Given the description of an element on the screen output the (x, y) to click on. 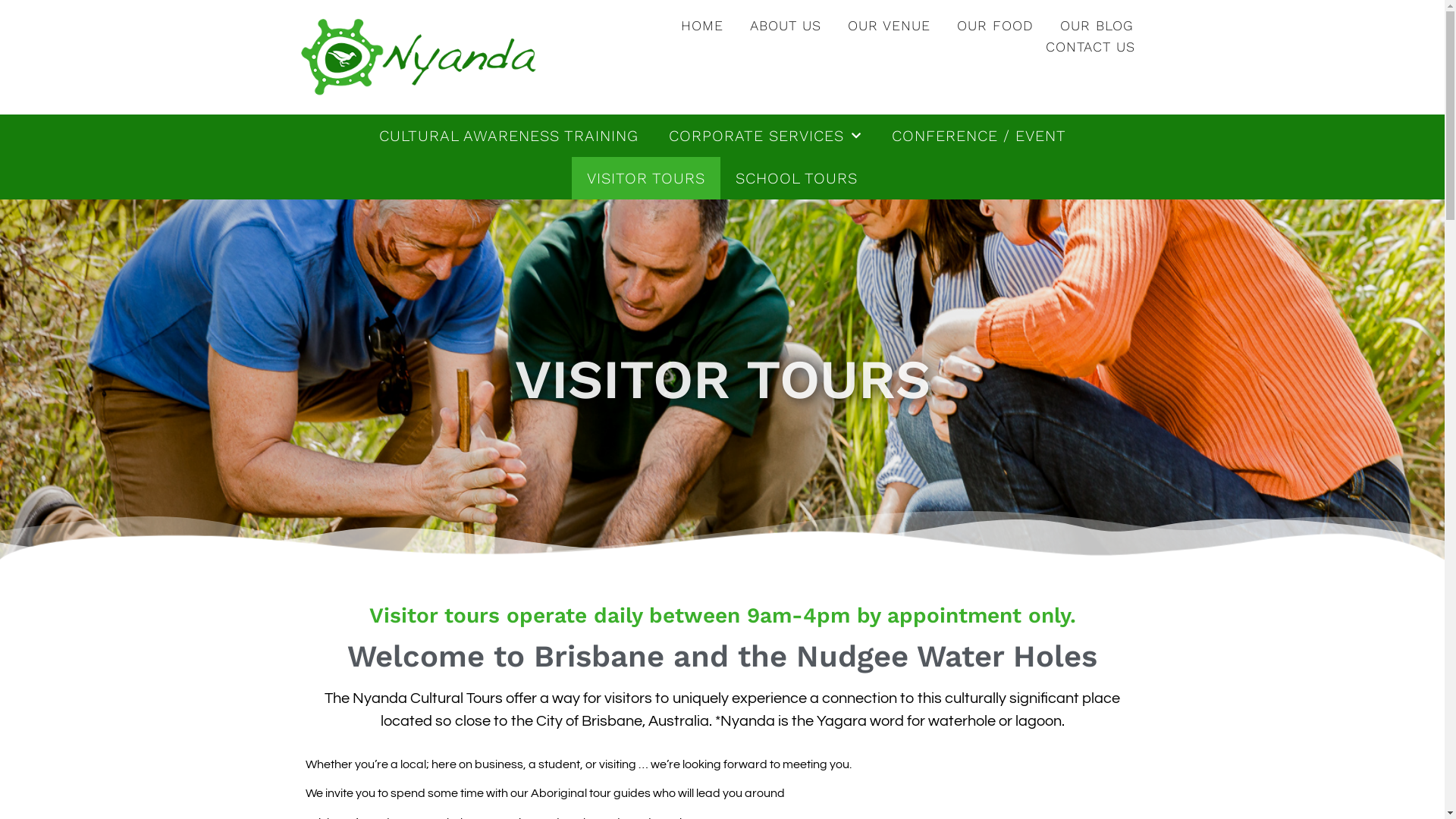
OUR FOOD Element type: text (994, 25)
VISITOR TOURS Element type: text (645, 177)
OUR VENUE Element type: text (888, 25)
SCHOOL TOURS Element type: text (796, 177)
HOME Element type: text (701, 25)
CULTURAL AWARENESS TRAINING Element type: text (508, 135)
CONTACT US Element type: text (1090, 46)
CORPORATE SERVICES Element type: text (764, 135)
ABOUT US Element type: text (785, 25)
CONFERENCE / EVENT Element type: text (978, 135)
OUR BLOG Element type: text (1096, 25)
